Given the description of an element on the screen output the (x, y) to click on. 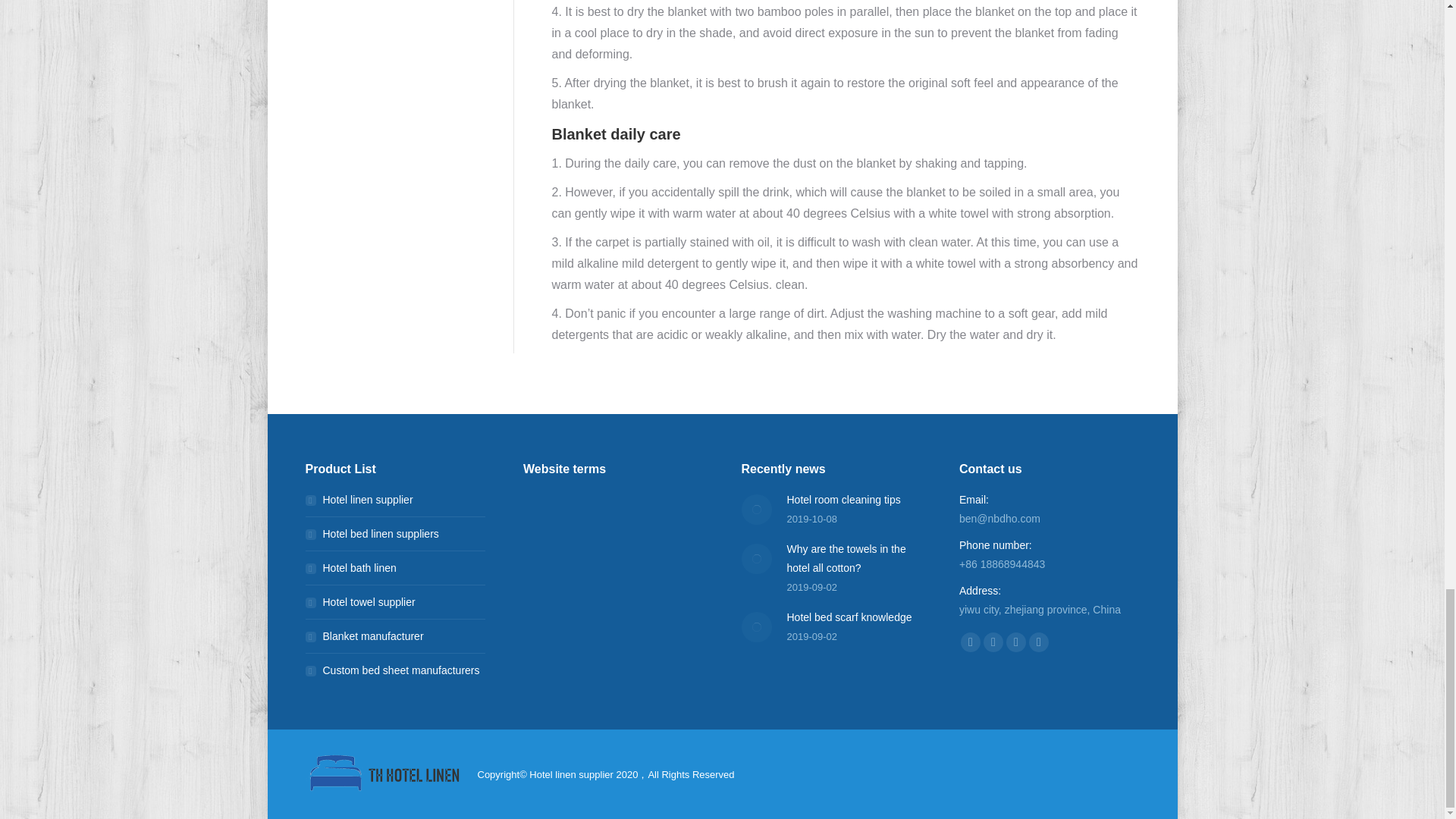
YouTube (1038, 641)
Twitter (993, 641)
Dribbble (1016, 641)
Facebook (969, 641)
